Given the description of an element on the screen output the (x, y) to click on. 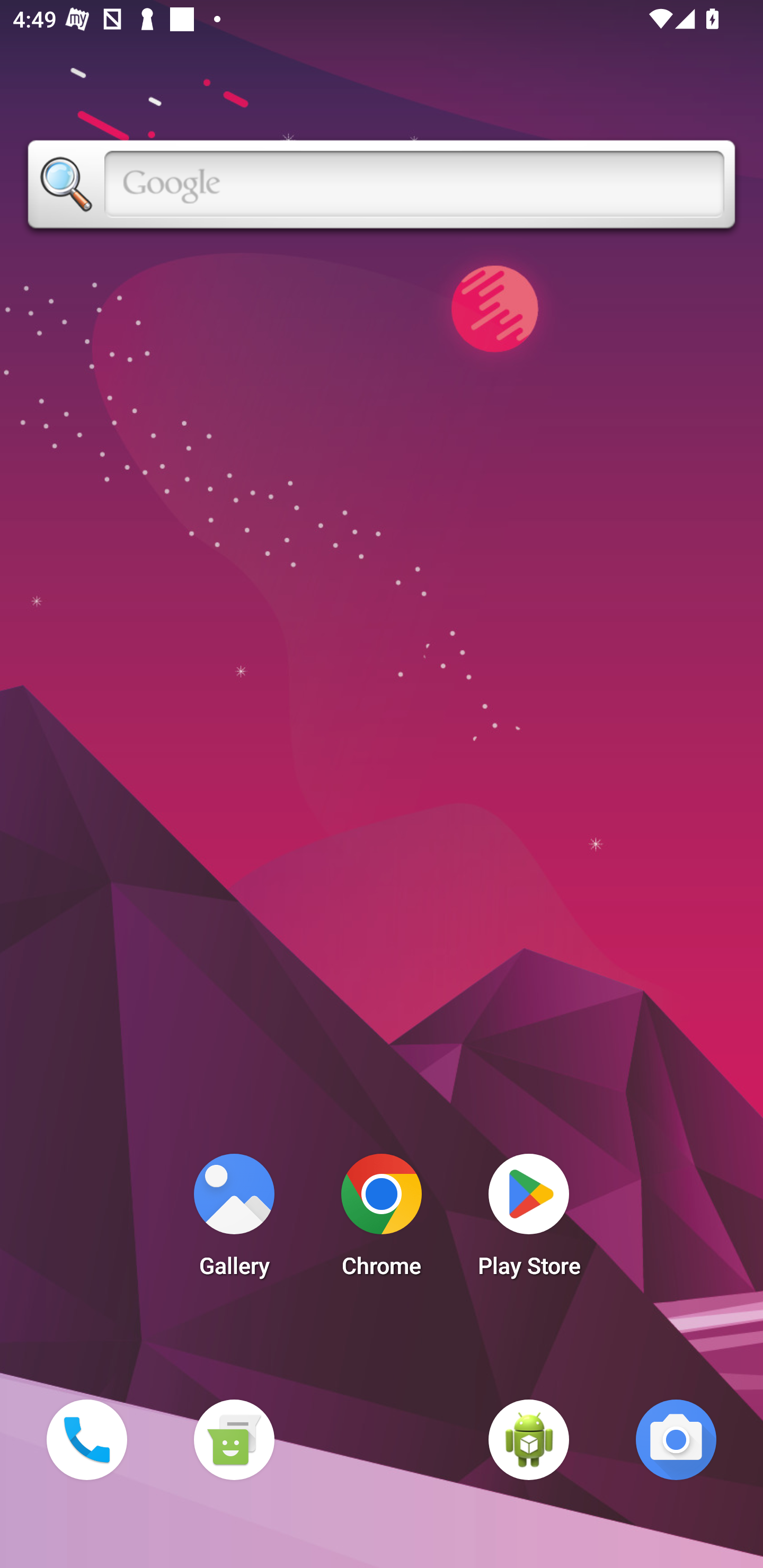
Gallery (233, 1220)
Chrome (381, 1220)
Play Store (528, 1220)
Phone (86, 1439)
Messaging (233, 1439)
WebView Browser Tester (528, 1439)
Camera (676, 1439)
